Given the description of an element on the screen output the (x, y) to click on. 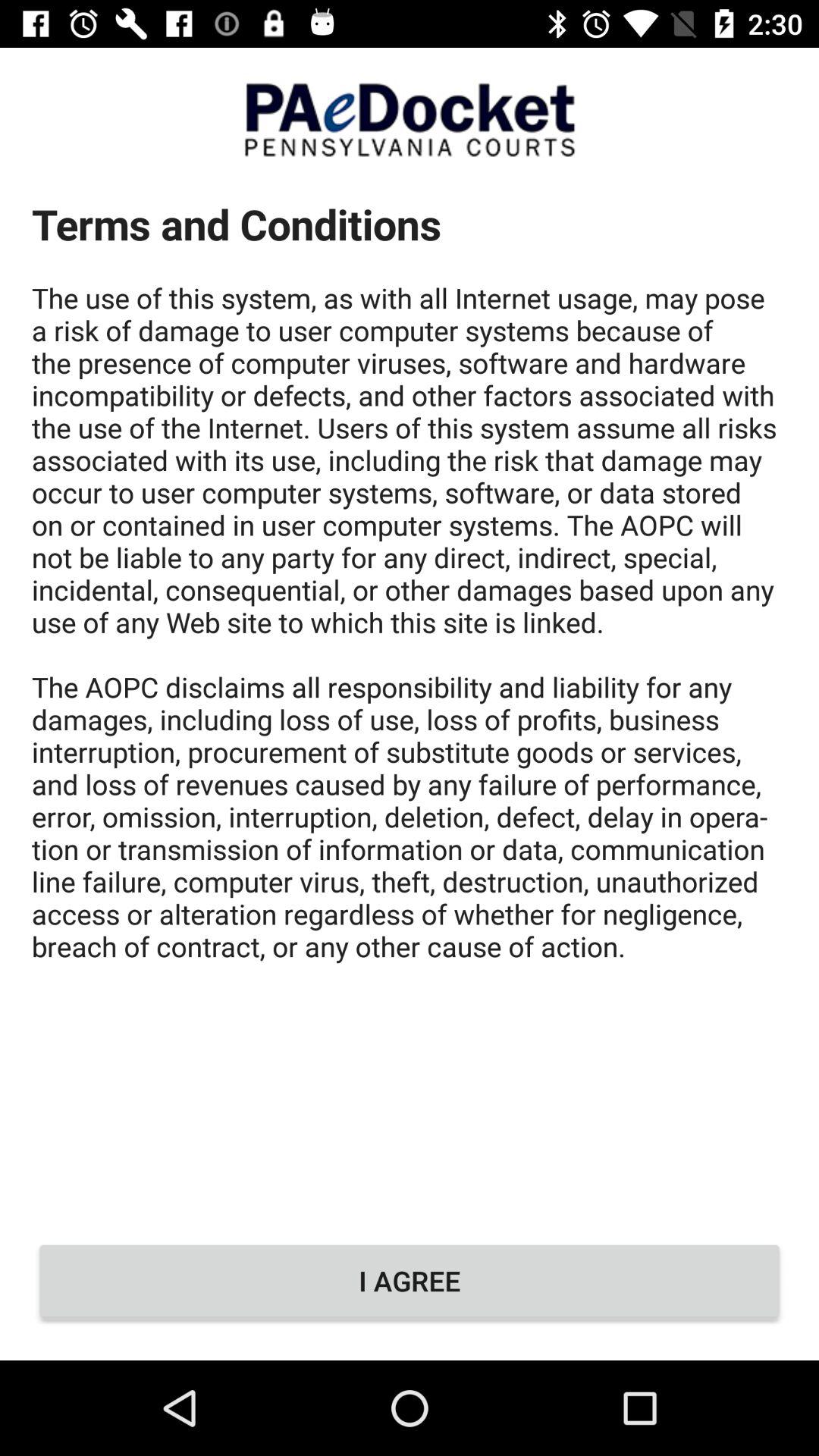
flip to i agree icon (409, 1280)
